Given the description of an element on the screen output the (x, y) to click on. 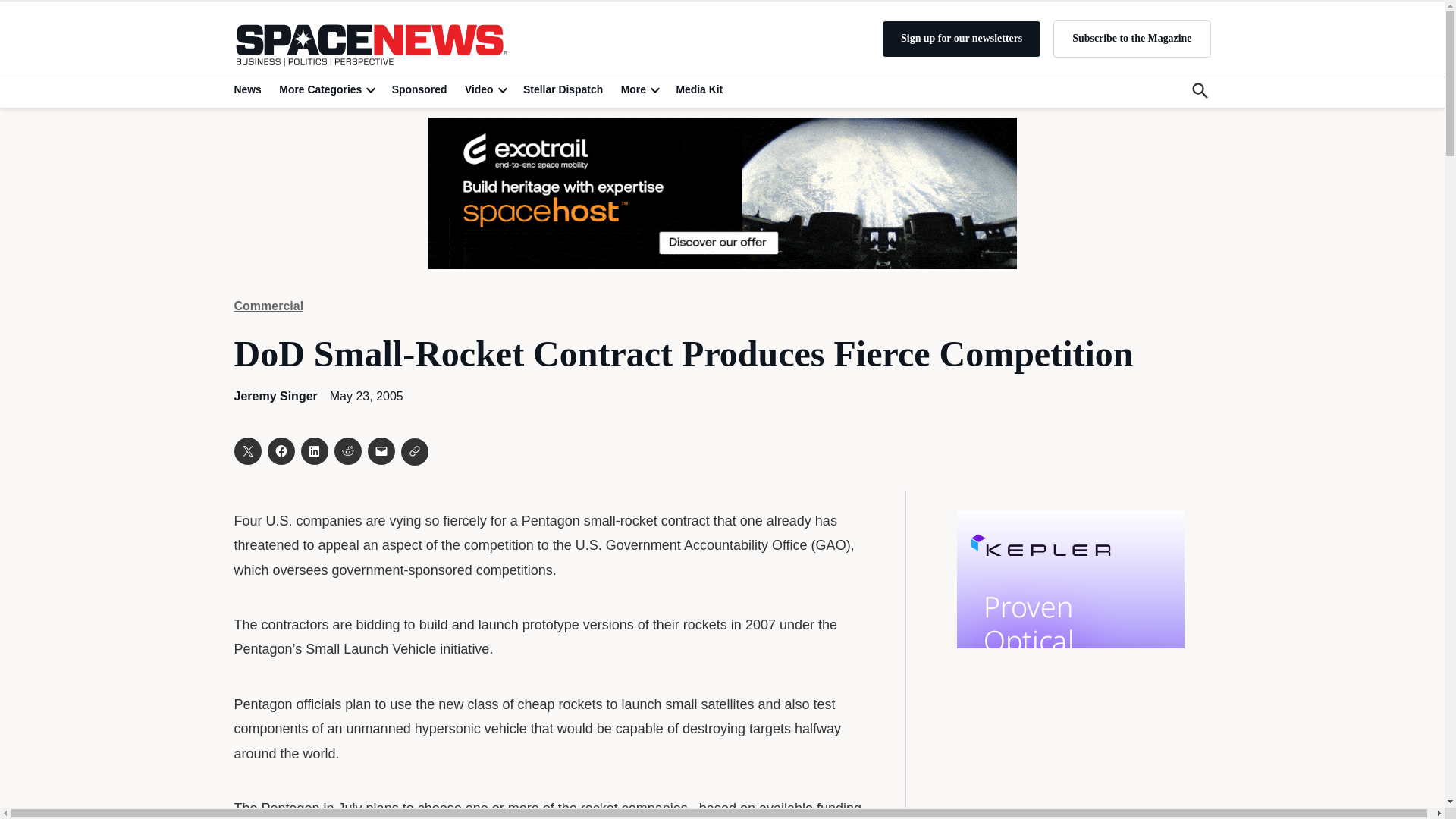
Click to share on X (246, 451)
Click to email a link to a friend (380, 451)
Sign up for our newsletters (961, 38)
Click to share on Reddit (347, 451)
Click to share on Clipboard (414, 452)
Click to share on LinkedIn (313, 451)
Subscribe to the Magazine (1130, 38)
Click to share on Facebook (280, 451)
